Given the description of an element on the screen output the (x, y) to click on. 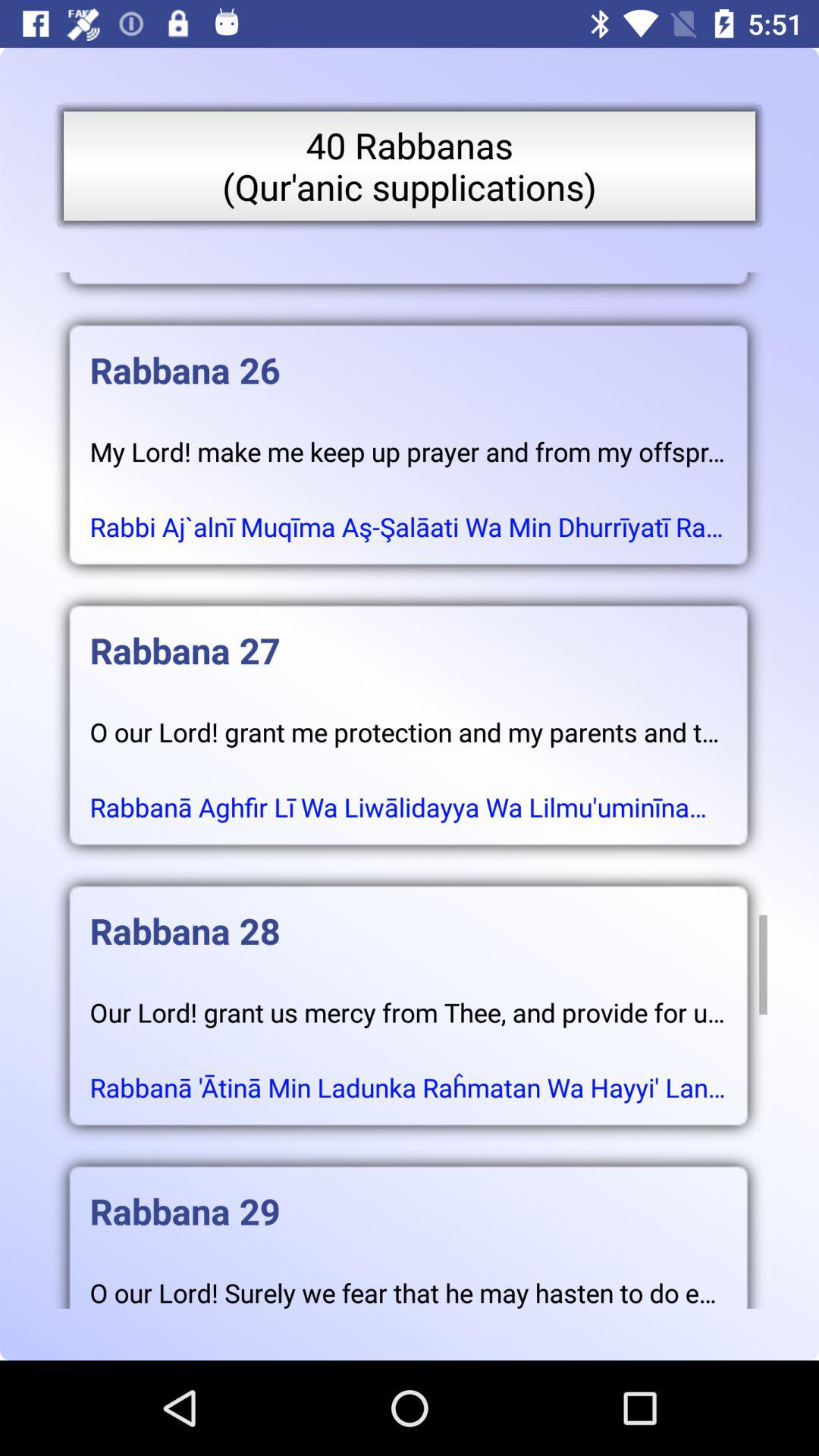
swipe until the rabbana 28 item (408, 915)
